Given the description of an element on the screen output the (x, y) to click on. 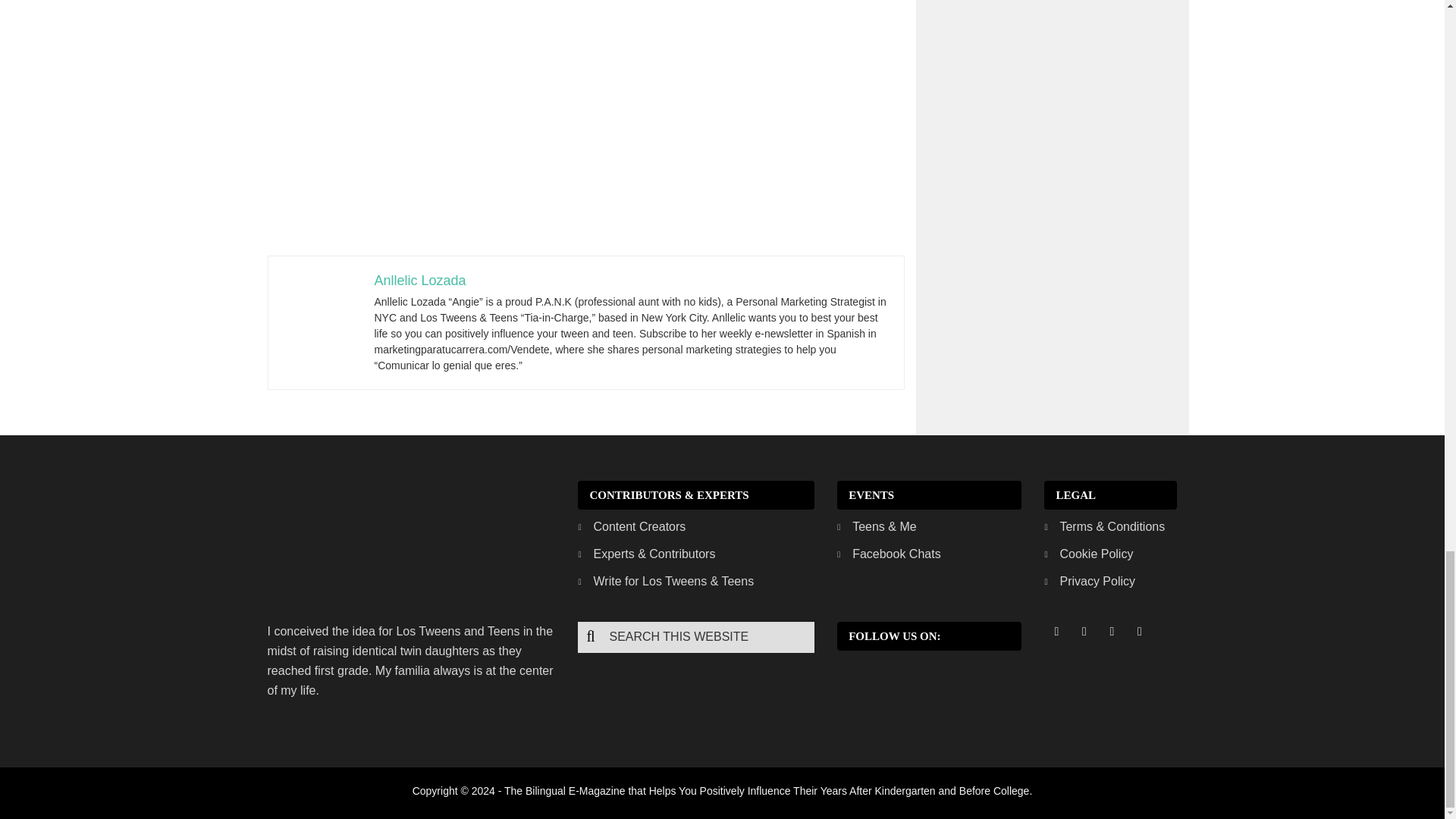
Lostweens Twitter (1083, 631)
Lostweens Youtube (1138, 631)
Lostweens Facebook (1055, 631)
Lostweens Instagram (1111, 631)
